Given the description of an element on the screen output the (x, y) to click on. 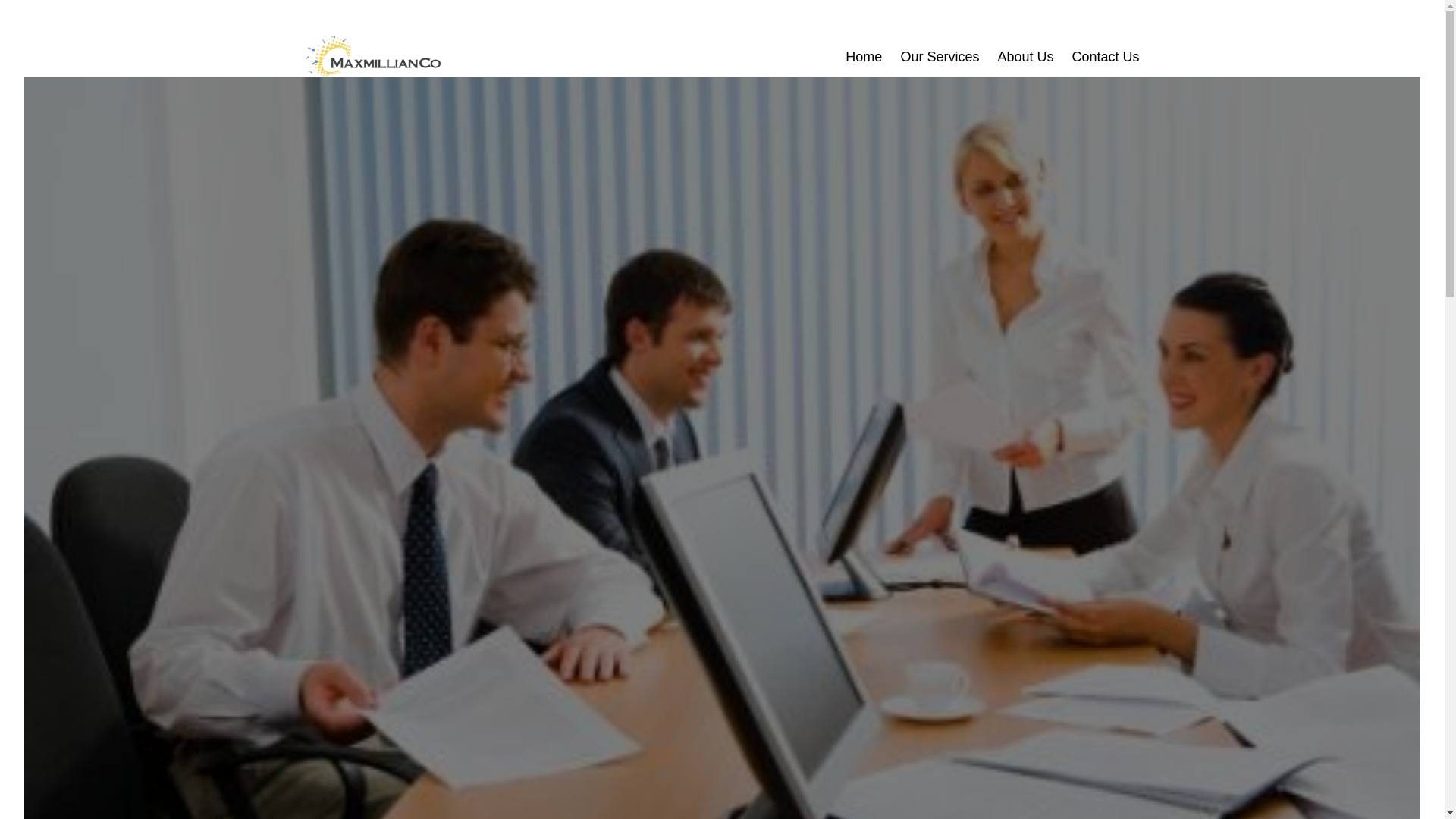
Our Services Element type: text (939, 57)
Home Element type: text (863, 57)
About Us Element type: text (1025, 57)
Contact Us Element type: text (1105, 57)
